Given the description of an element on the screen output the (x, y) to click on. 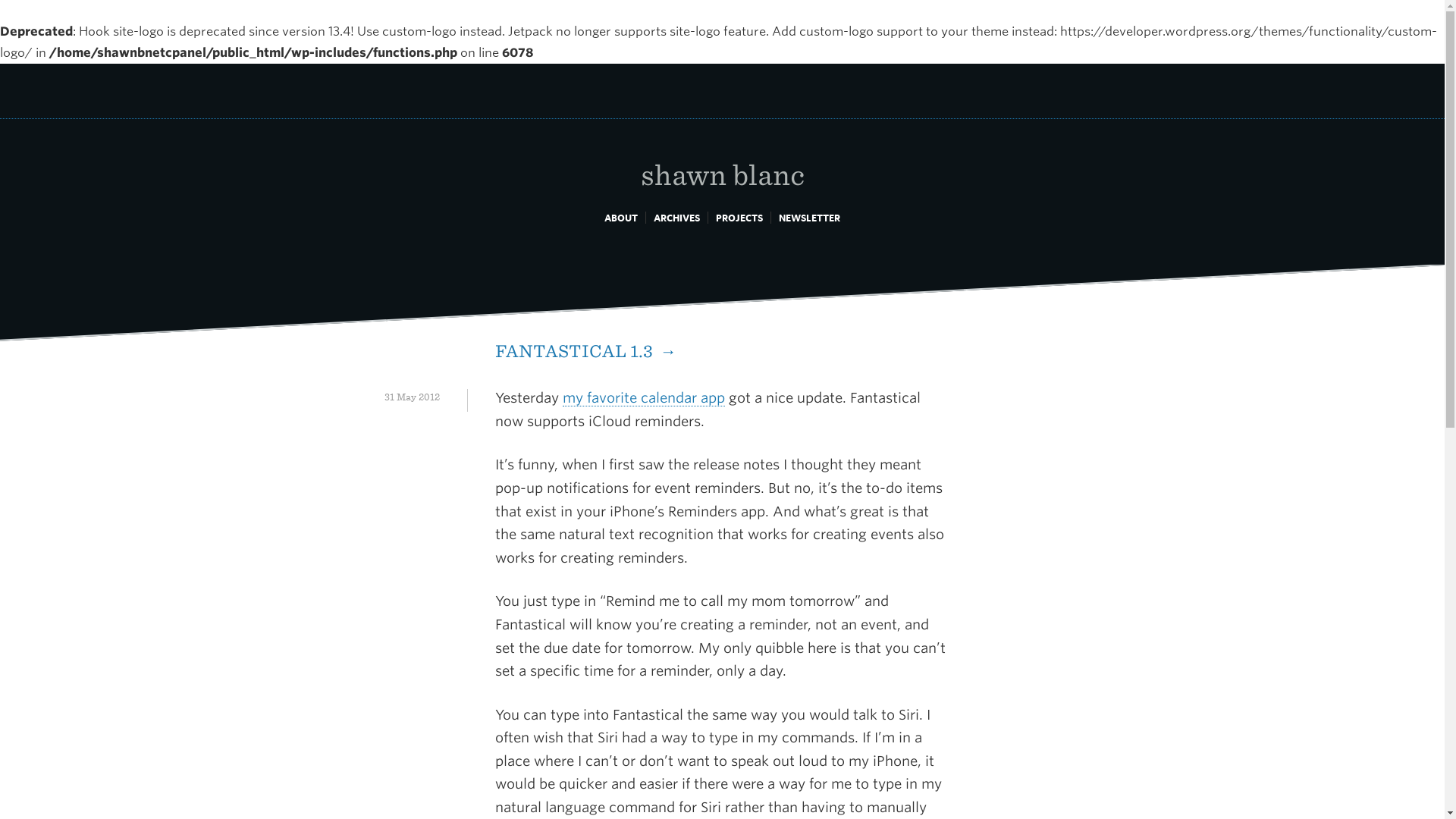
my favorite calendar app (643, 397)
NEWSLETTER (809, 217)
ARCHIVES (676, 217)
ABOUT (620, 217)
shawn blanc (721, 157)
PROJECTS (739, 217)
31 May 2012 (411, 396)
Fantastical 1.3 (586, 351)
